Given the description of an element on the screen output the (x, y) to click on. 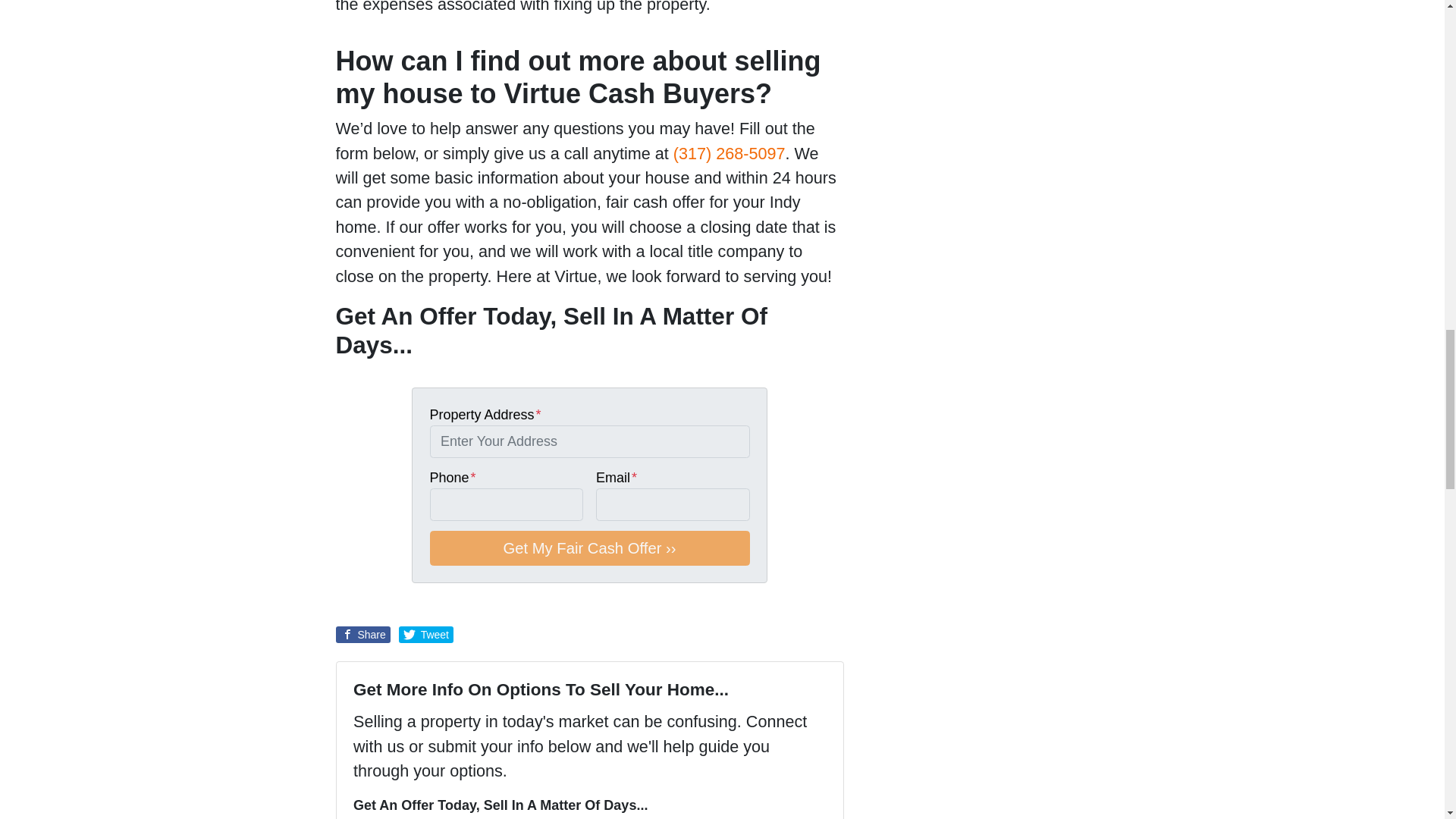
Share on Facebook (362, 634)
Share (362, 634)
Share on Twitter (425, 634)
Tweet (425, 634)
